Given the description of an element on the screen output the (x, y) to click on. 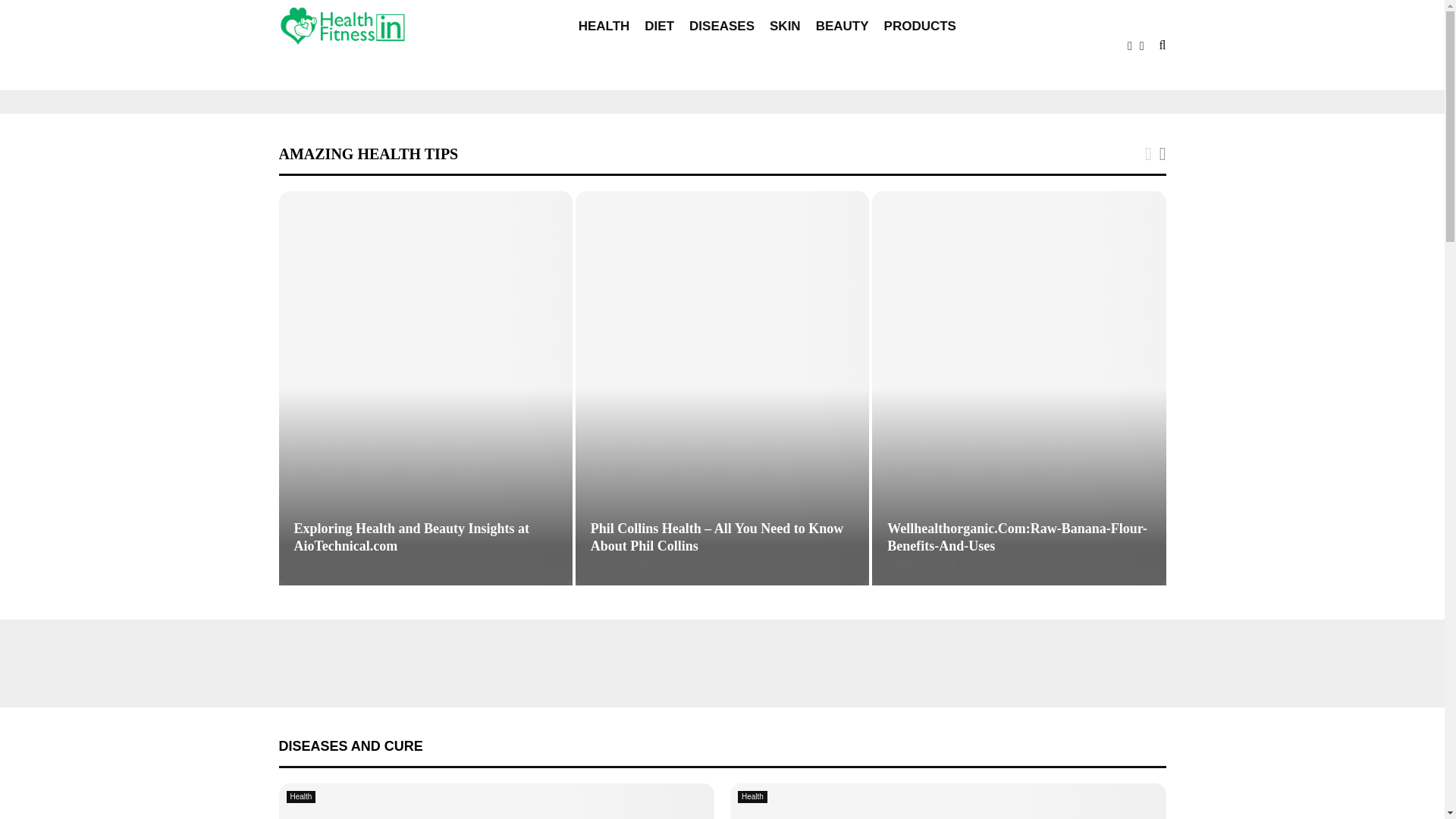
AMAZING HEALTH TIPS (368, 153)
 Exploring Health and Beauty Insights at AioTechnical.com  (411, 536)
Amazing Health Tips (368, 153)
